Given the description of an element on the screen output the (x, y) to click on. 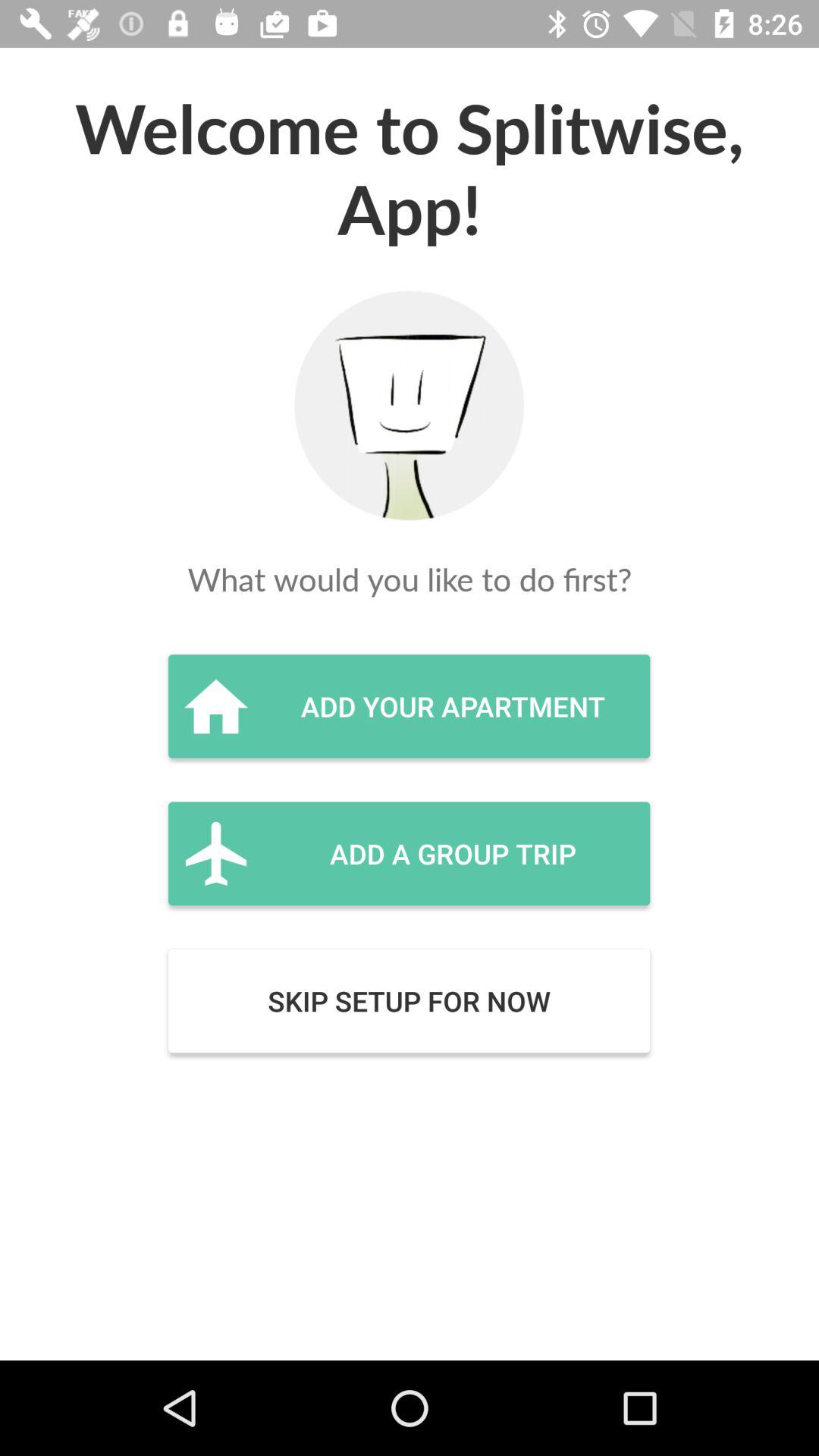
jump to the add your apartment icon (409, 706)
